Given the description of an element on the screen output the (x, y) to click on. 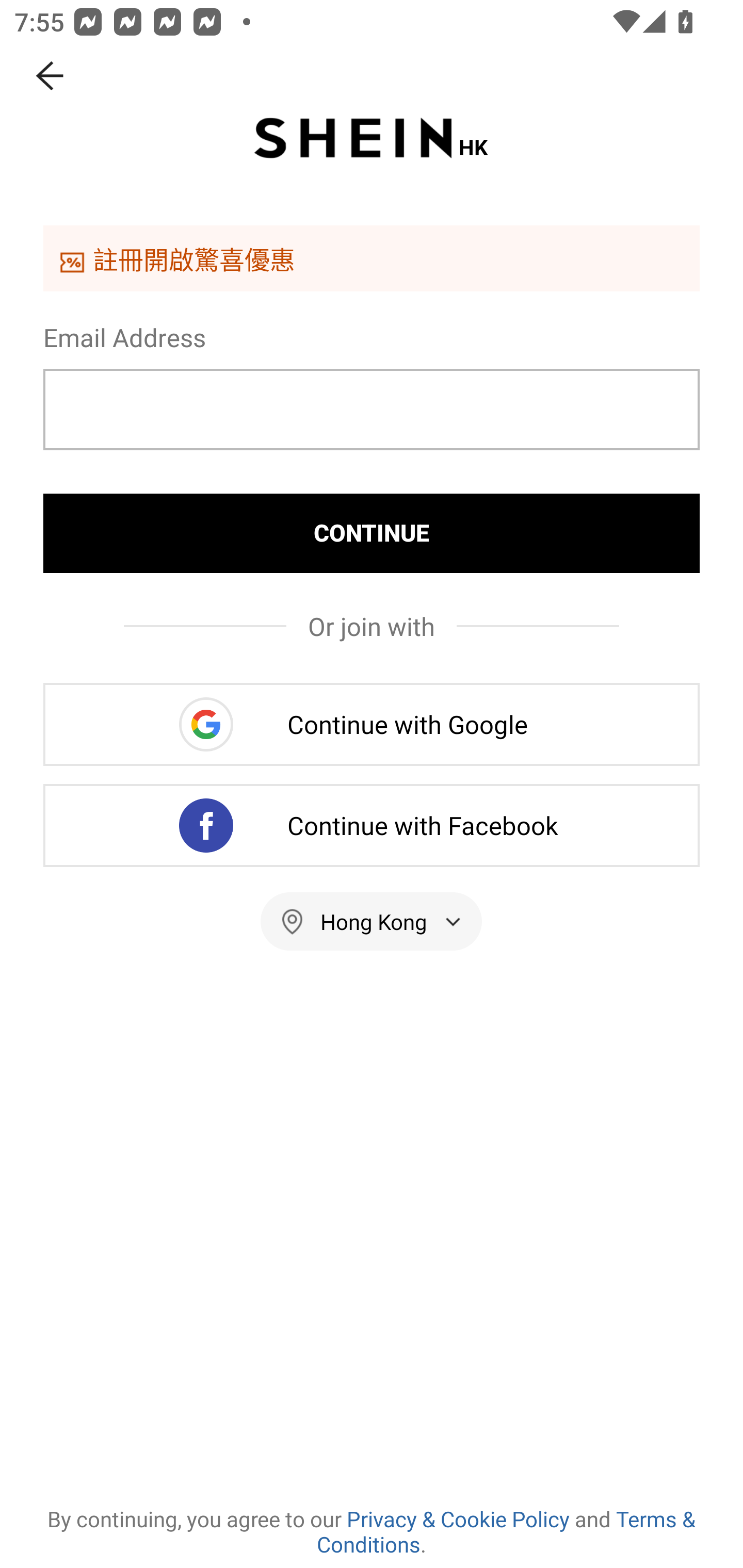
CLOSE (50, 75)
CONTINUE (371, 532)
Continue with Google (371, 724)
Continue with Facebook (371, 825)
Hong Kong (371, 921)
